Given the description of an element on the screen output the (x, y) to click on. 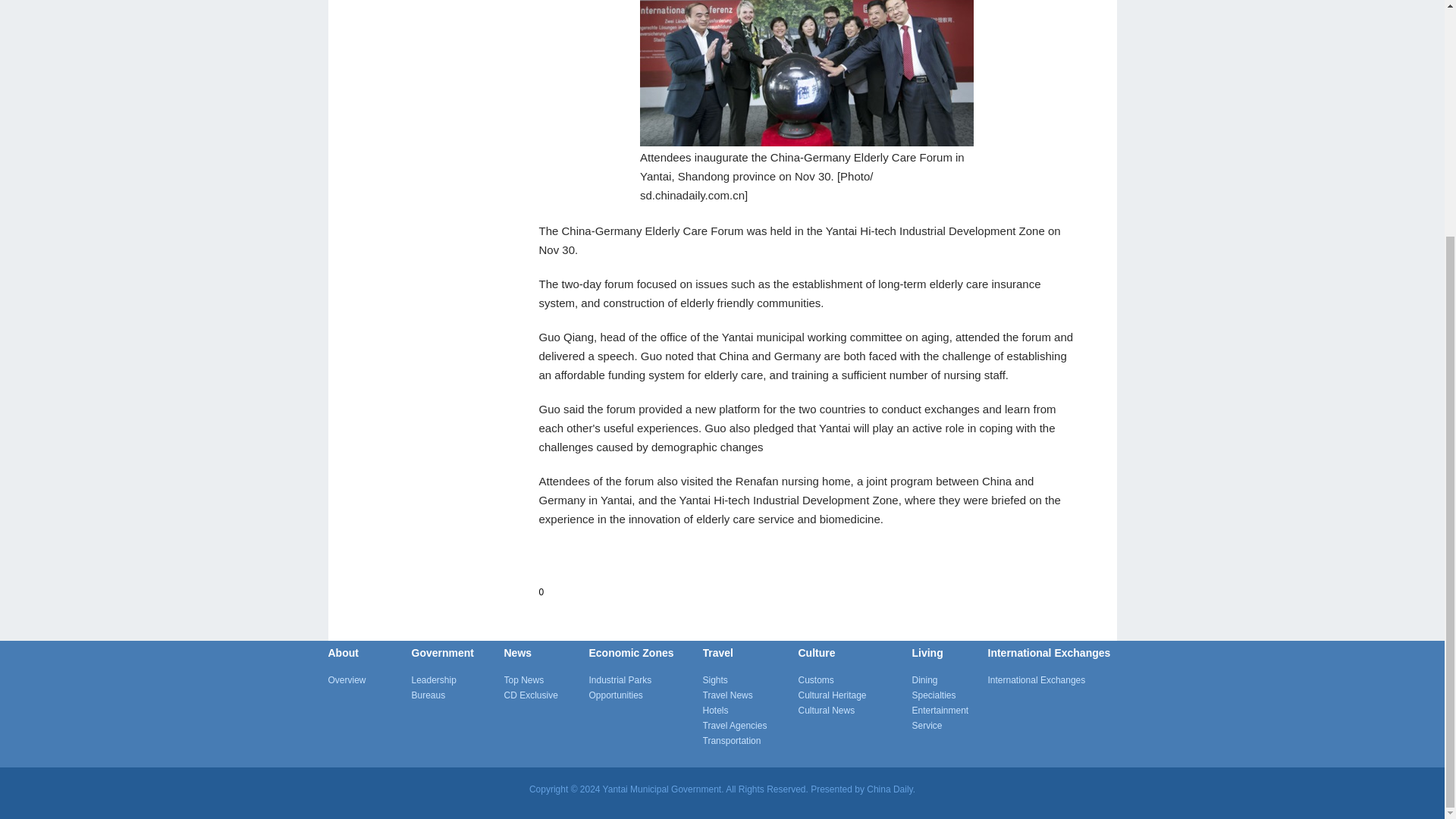
Industrial Parks (644, 679)
Economic Zones (630, 653)
Top News (545, 679)
Opportunities (644, 694)
Leadership (456, 679)
Overview (368, 679)
About (342, 653)
Travel (716, 653)
Government (441, 653)
News (517, 653)
CD Exclusive (545, 694)
Bureaus (456, 694)
